Given the description of an element on the screen output the (x, y) to click on. 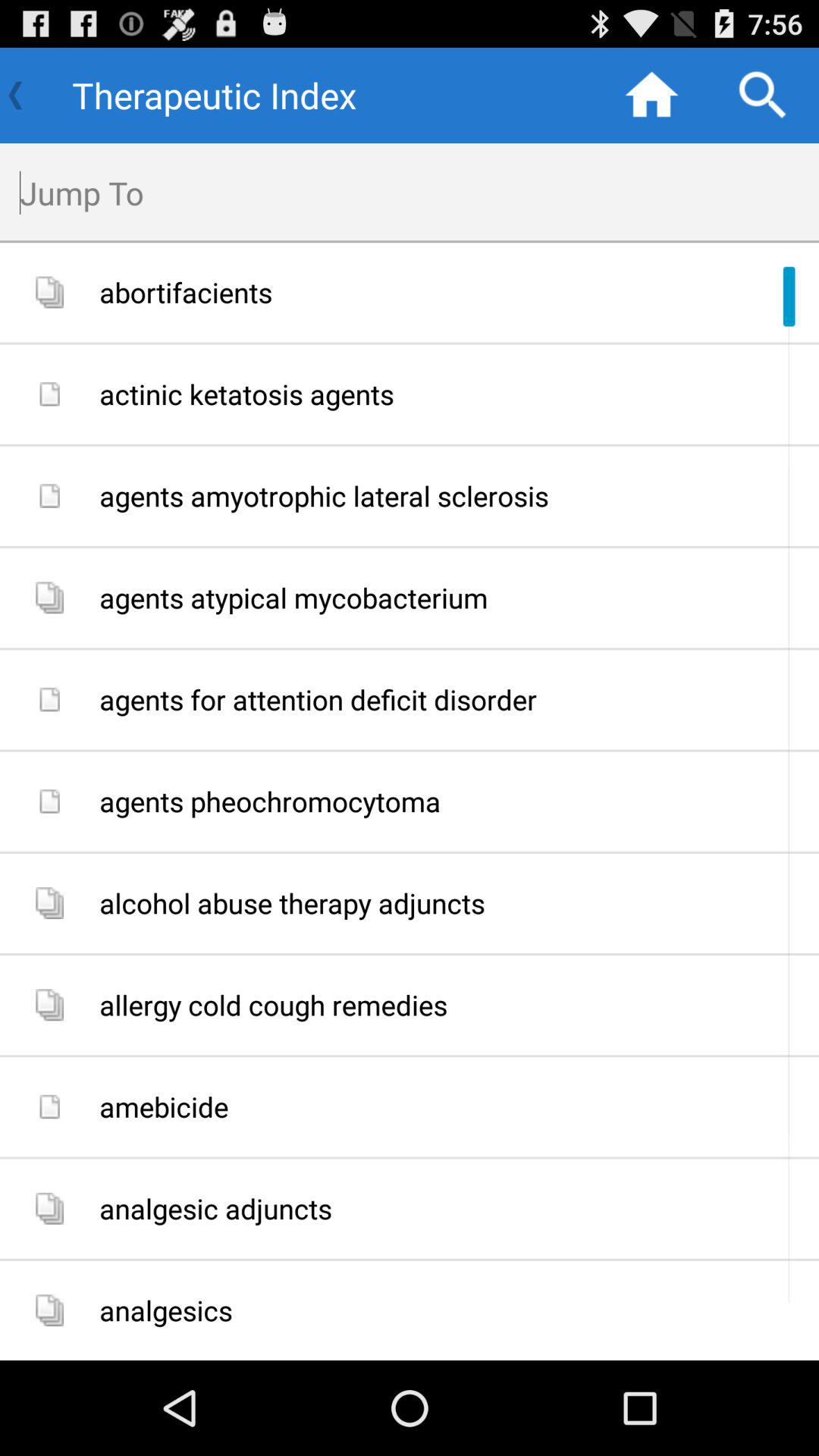
flip to allergy cold cough (453, 1005)
